Given the description of an element on the screen output the (x, y) to click on. 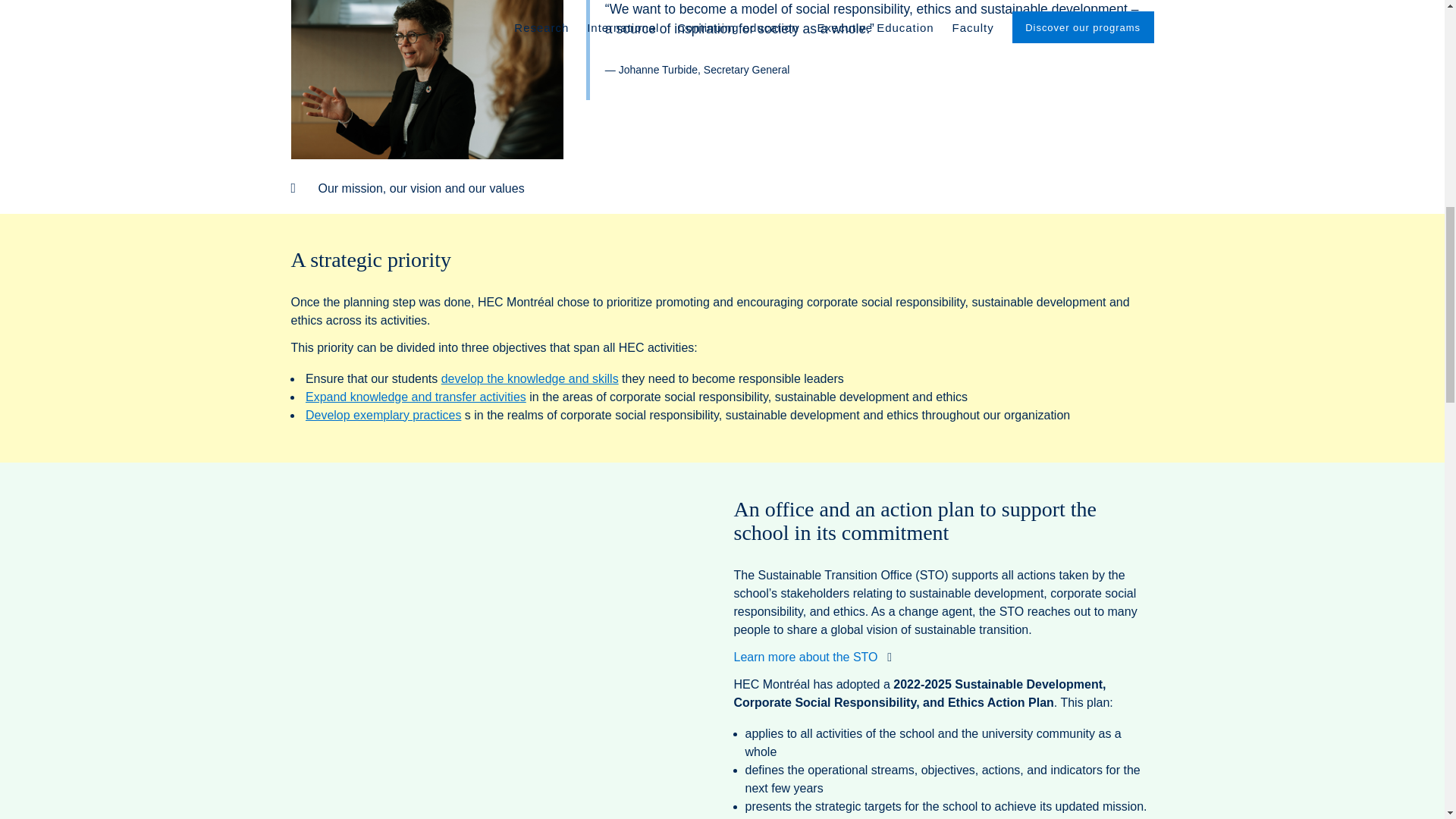
Developing exemplary organizational practices (383, 414)
Expanding knowledge and transfer activities (415, 396)
develop the knowledge and skills (529, 378)
 Training responsible leaders (529, 378)
Develop exemplary practices (383, 414)
Expand knowledge and transfer activities (415, 396)
The Sustainable Transition Office (812, 656)
